Given the description of an element on the screen output the (x, y) to click on. 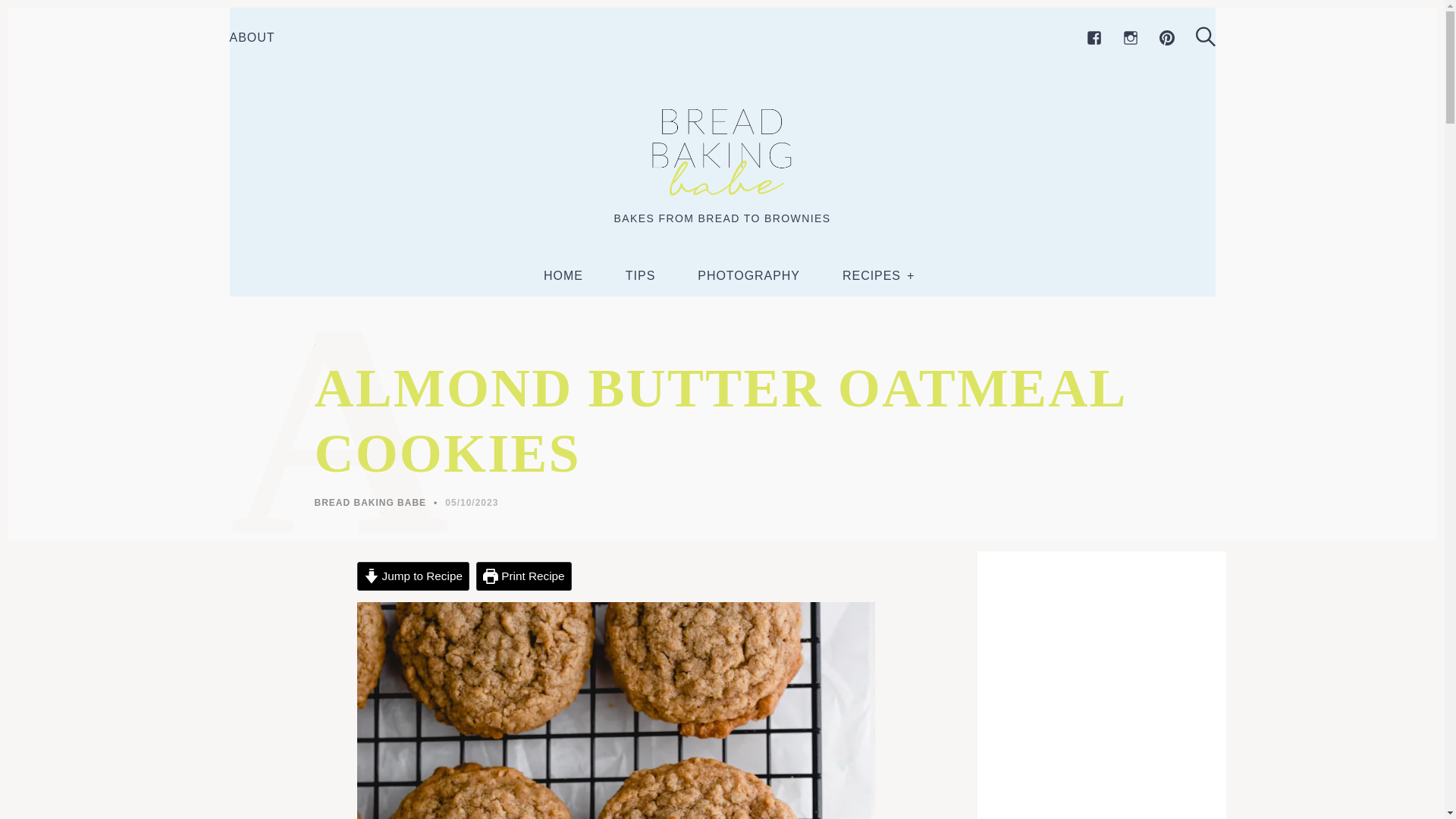
PINTEREST (1165, 37)
Jump to Recipe (412, 575)
INSTAGRAM (1129, 37)
RECIPES (872, 276)
BREAD BAKING BABE (370, 502)
FACEBOOK (1093, 37)
ABOUT (251, 37)
PHOTOGRAPHY (748, 276)
Search (1204, 36)
HOME (563, 276)
Print Recipe (523, 575)
